Given the description of an element on the screen output the (x, y) to click on. 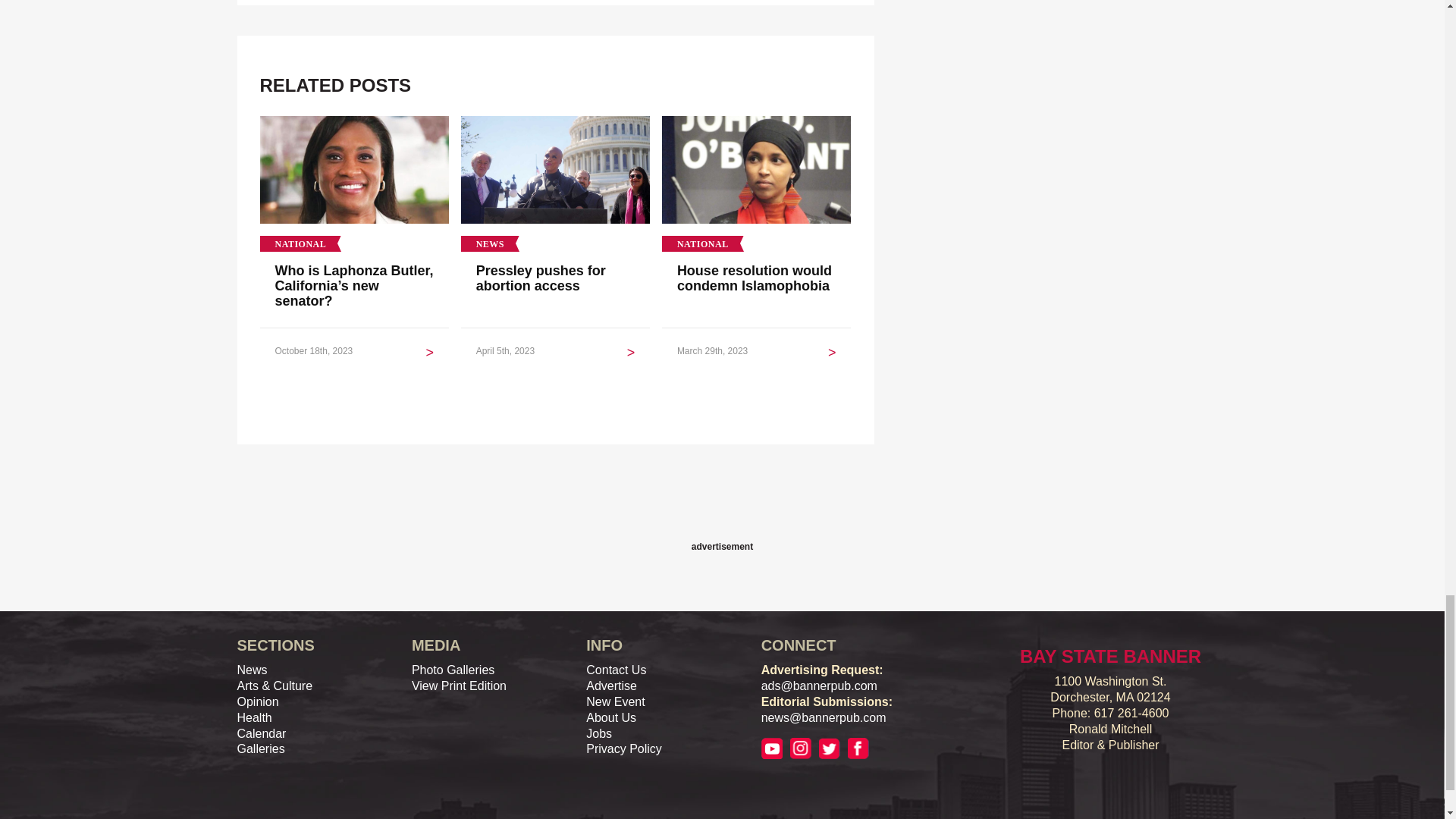
3rd party ad content (721, 502)
